Given the description of an element on the screen output the (x, y) to click on. 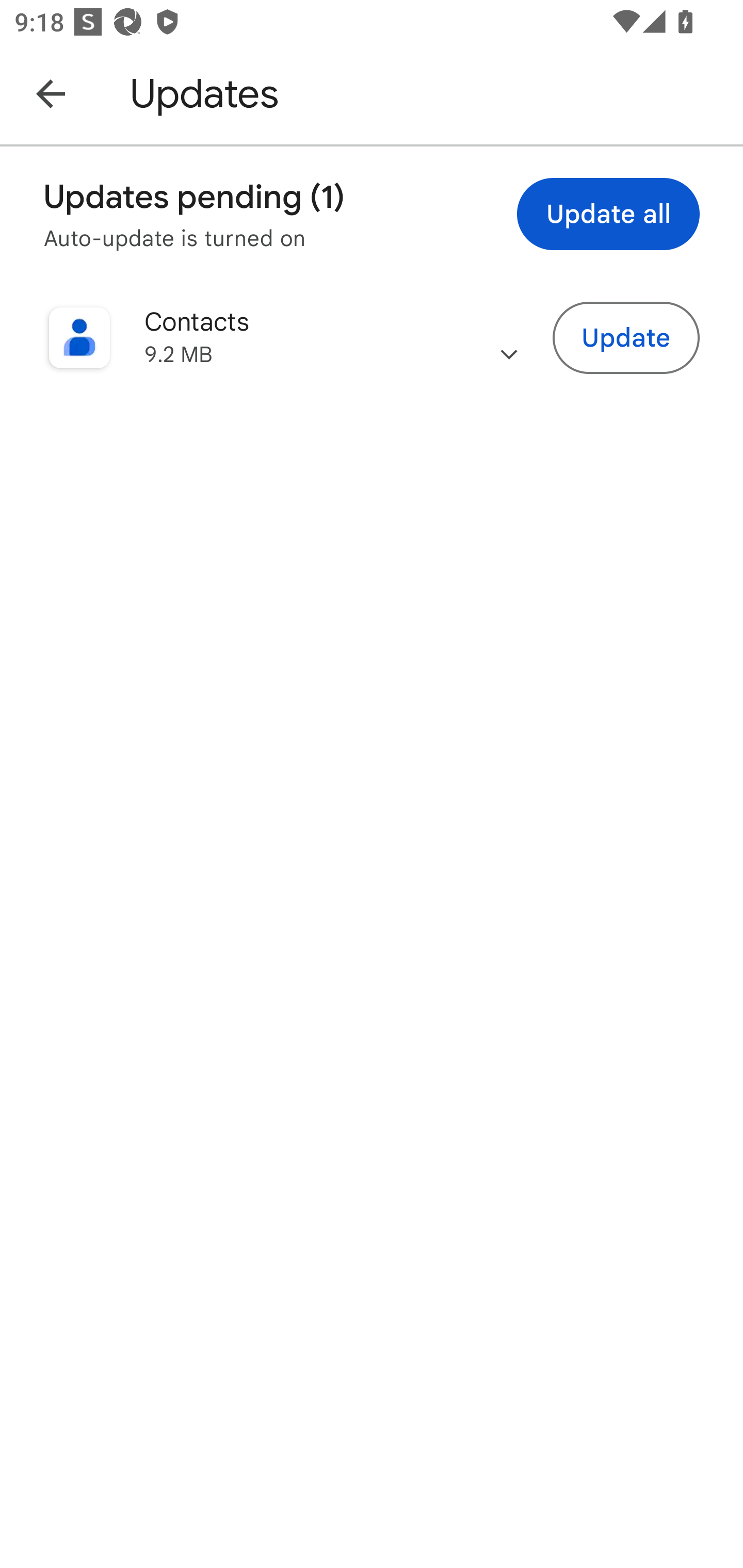
Navigate up (50, 92)
Update all (608, 213)
Changes in the app (508, 337)
Update (625, 337)
